Given the description of an element on the screen output the (x, y) to click on. 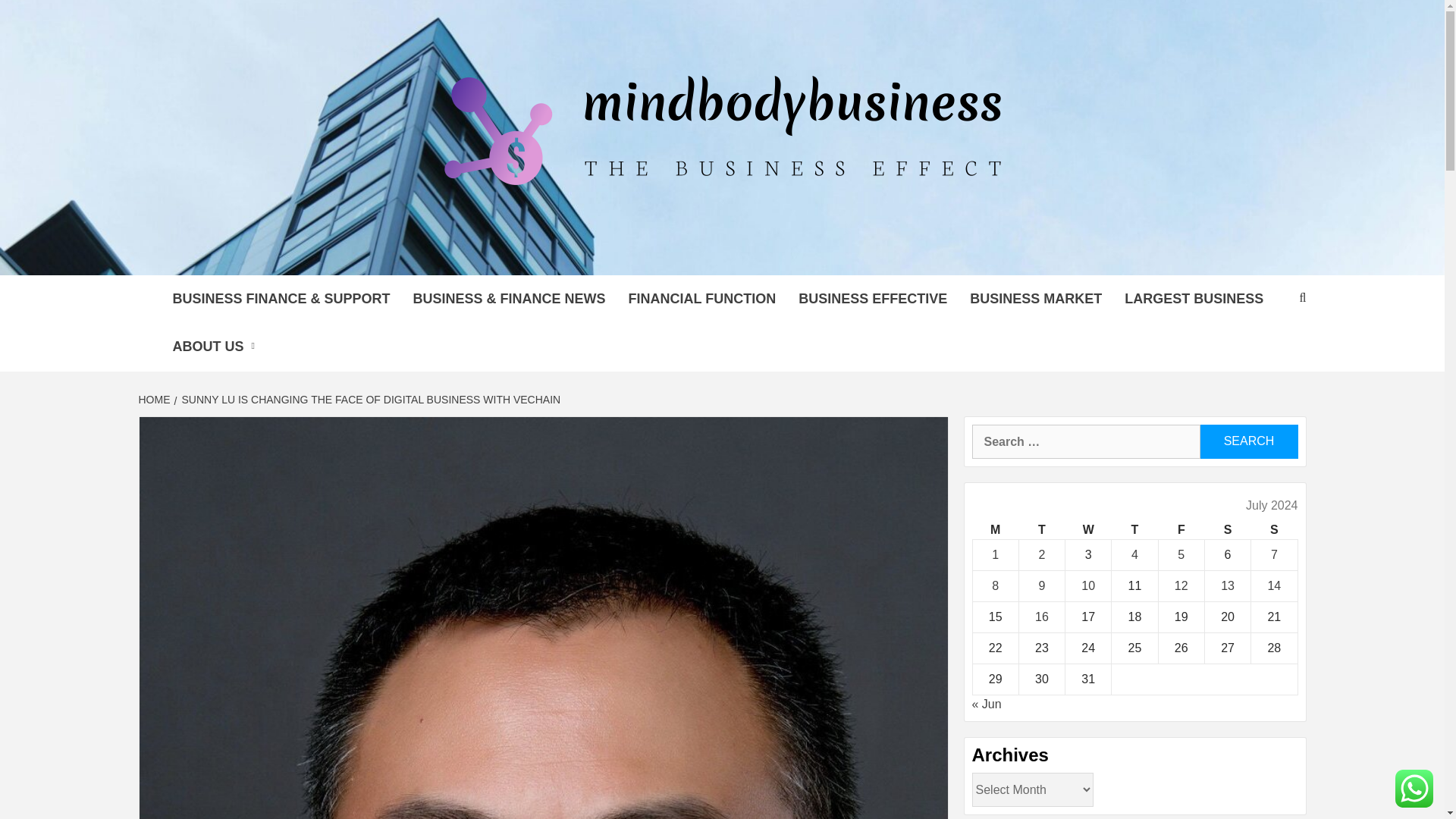
Wednesday (1088, 529)
ABOUT US (216, 346)
Thursday (1134, 529)
BUSINESS MARKET (1035, 298)
FINANCIAL FUNCTION (702, 298)
Search (1248, 441)
LARGEST BUSINESS (1194, 298)
HOME (155, 399)
Monday (994, 529)
BUSINESS EFFECTIVE (872, 298)
Tuesday (1040, 529)
MINDBODYBUSINESS (542, 255)
Saturday (1227, 529)
Sunday (1273, 529)
